Given the description of an element on the screen output the (x, y) to click on. 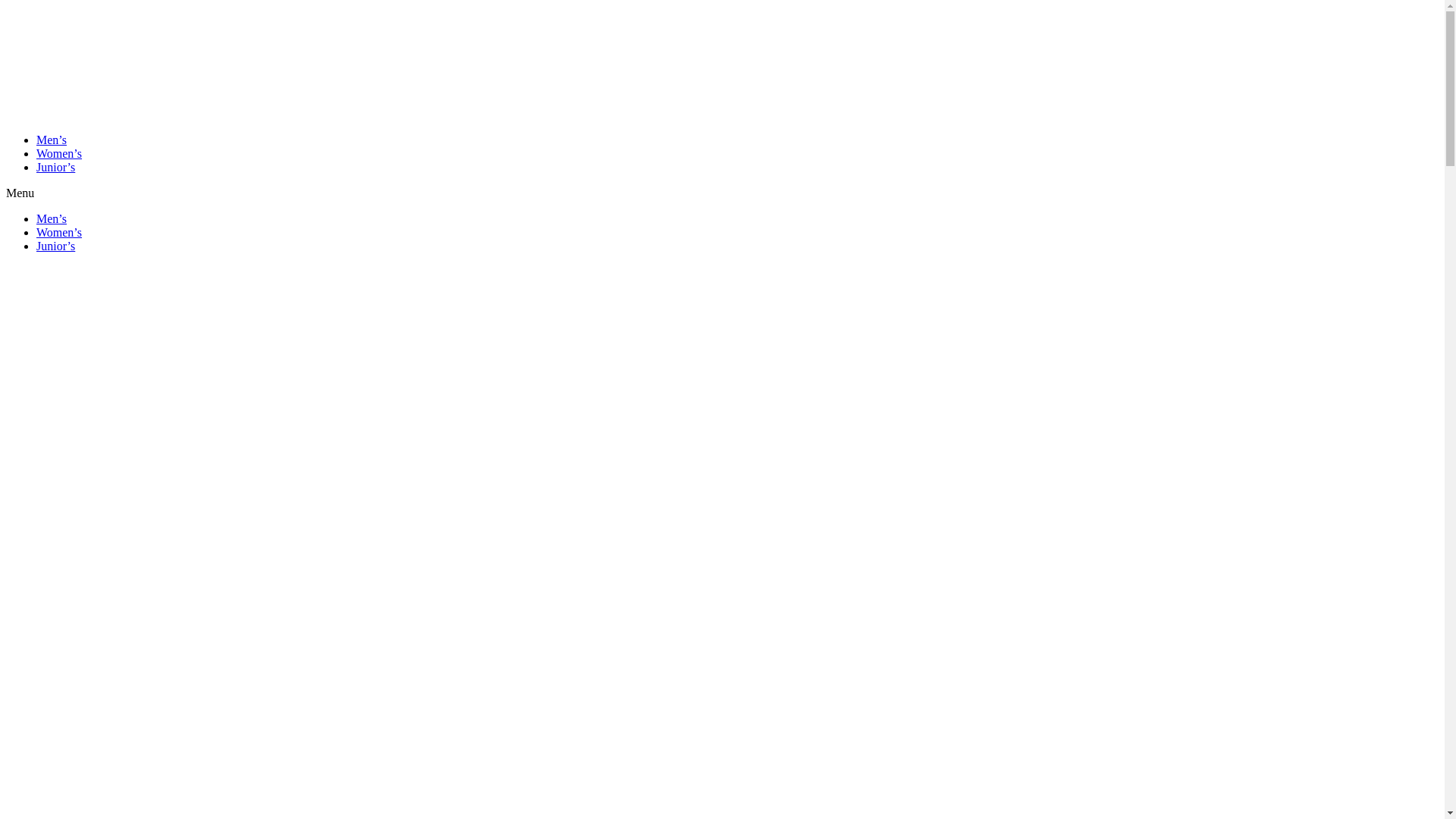
Skip to content Element type: text (6, 6)
